Given the description of an element on the screen output the (x, y) to click on. 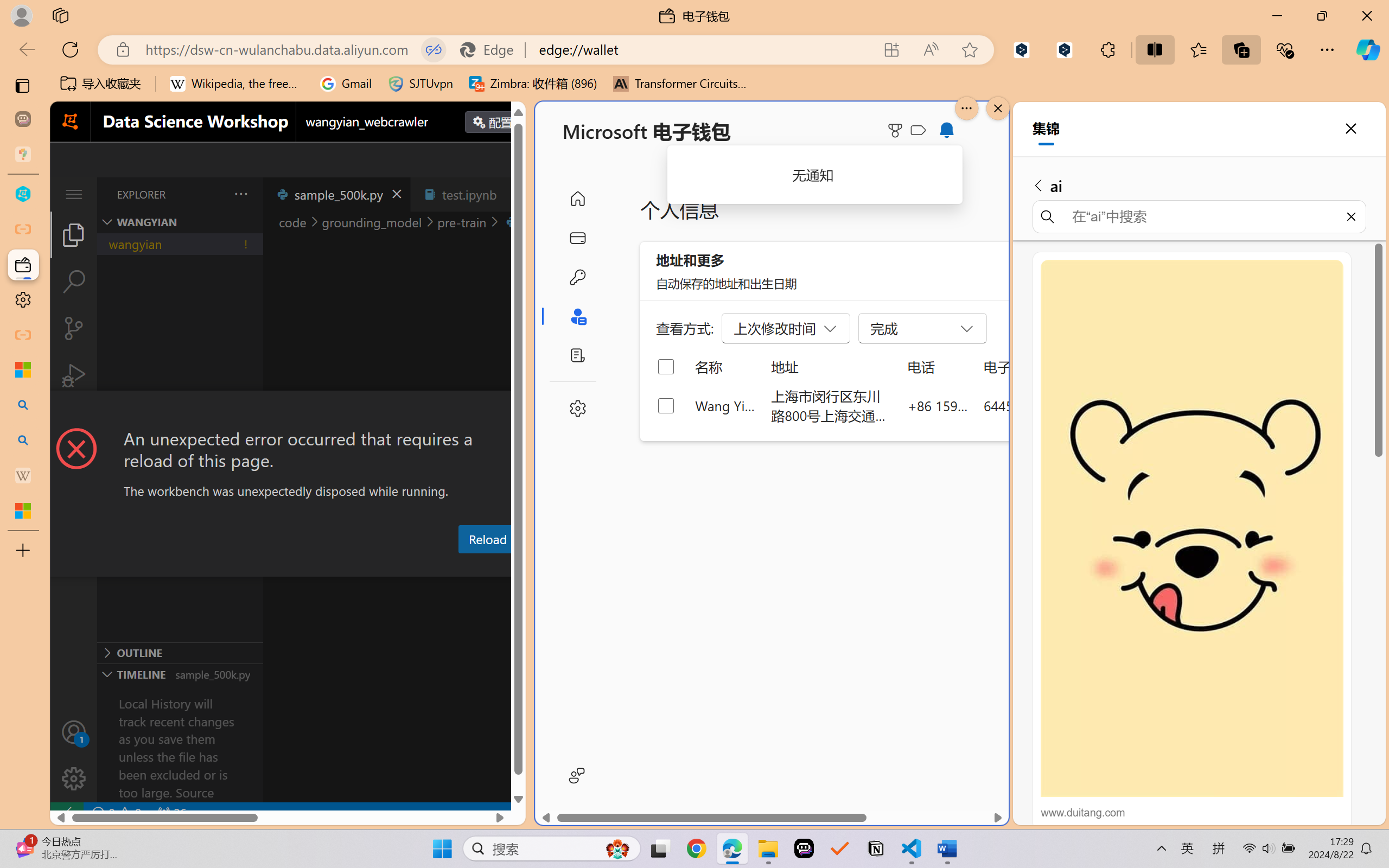
Views and More Actions... (240, 193)
Wang Yian (725, 405)
Microsoft security help and learning (22, 369)
Copilot (Ctrl+Shift+.) (1368, 49)
wangyian_dsw - DSW (22, 194)
Extensions (Ctrl+Shift+X) (73, 422)
